Given the description of an element on the screen output the (x, y) to click on. 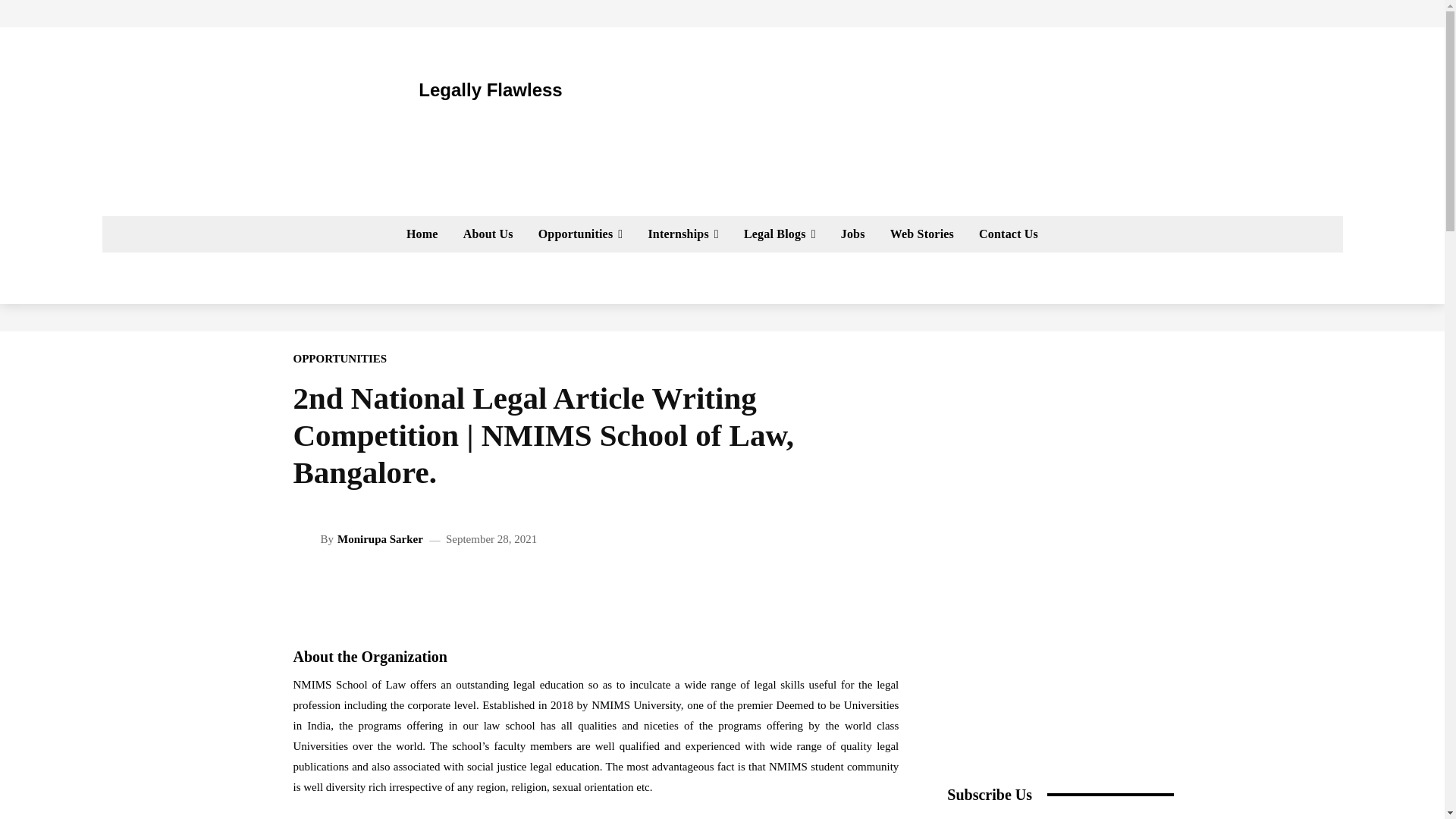
Legally Flawless (439, 89)
Monirupa Sarker (306, 538)
Opportunities (580, 234)
About Us (488, 234)
Home (422, 234)
